Given the description of an element on the screen output the (x, y) to click on. 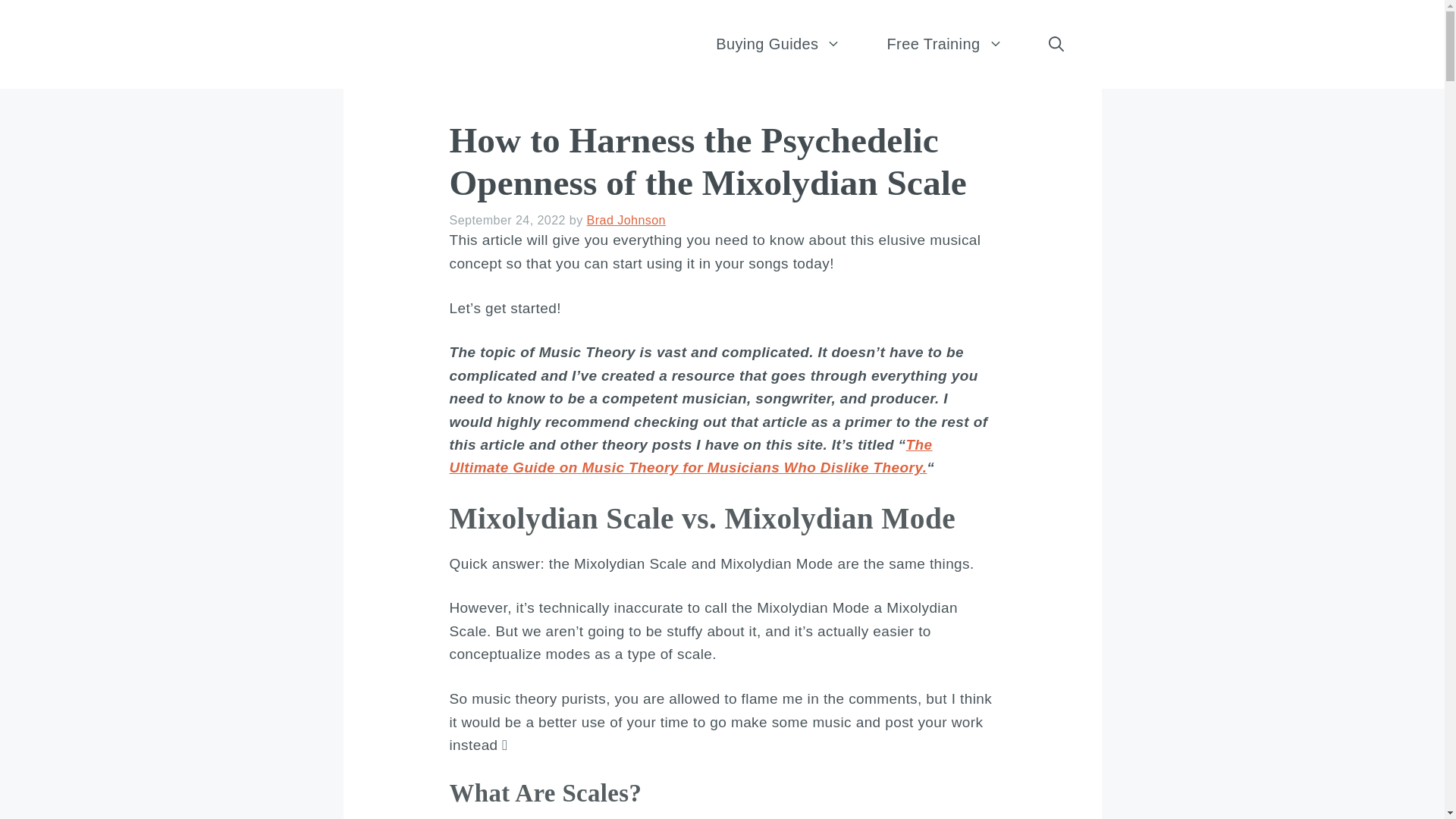
Brad Johnson (625, 219)
View all posts by Brad Johnson (625, 219)
Free Training (944, 43)
Buying Guides (778, 43)
